Given the description of an element on the screen output the (x, y) to click on. 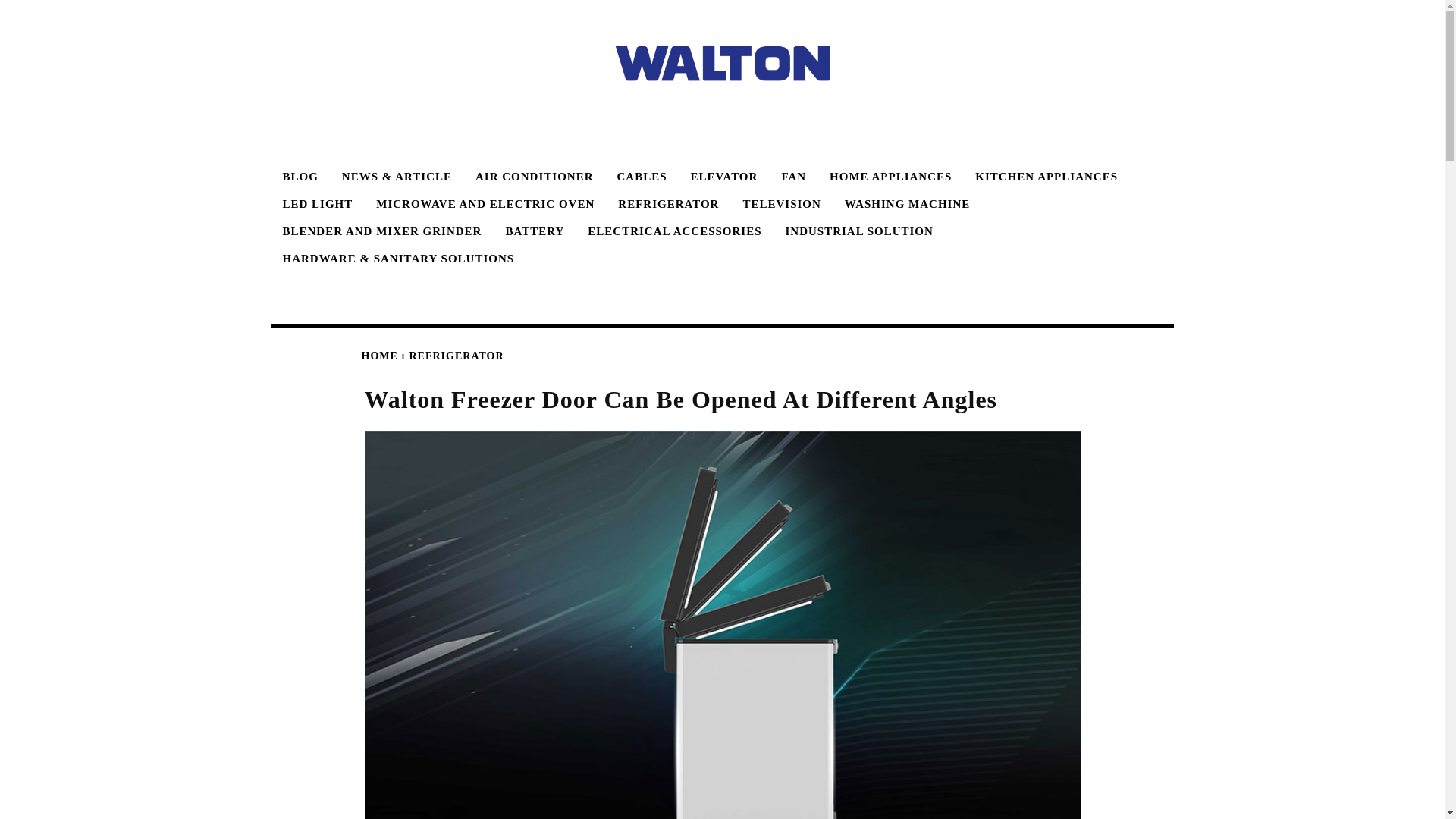
FAN (790, 176)
CABLES (639, 176)
AIR CONDITIONER (531, 176)
View all posts in Refrigerator (456, 355)
HOME APPLIANCES (887, 176)
ELEVATOR (721, 176)
BLOG (296, 176)
KITCHEN APPLIANCES (1043, 176)
